Given the description of an element on the screen output the (x, y) to click on. 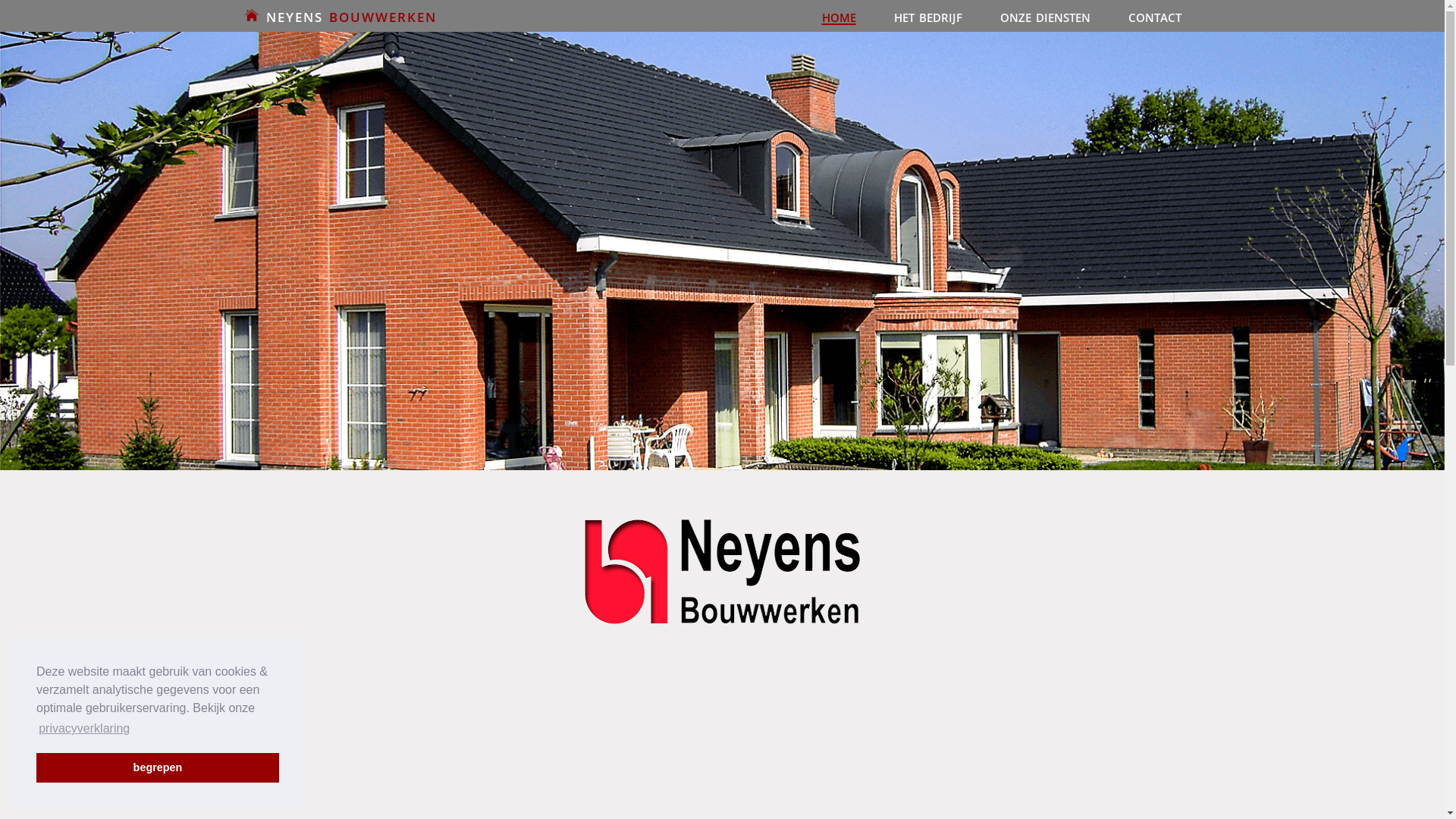
privacyverklaring Element type: text (83, 728)
contact Element type: text (1153, 15)
het bedrijf Element type: text (928, 15)
onze diensten Element type: text (1045, 15)
home Element type: text (838, 15)
begrepen Element type: text (157, 767)
